Given the description of an element on the screen output the (x, y) to click on. 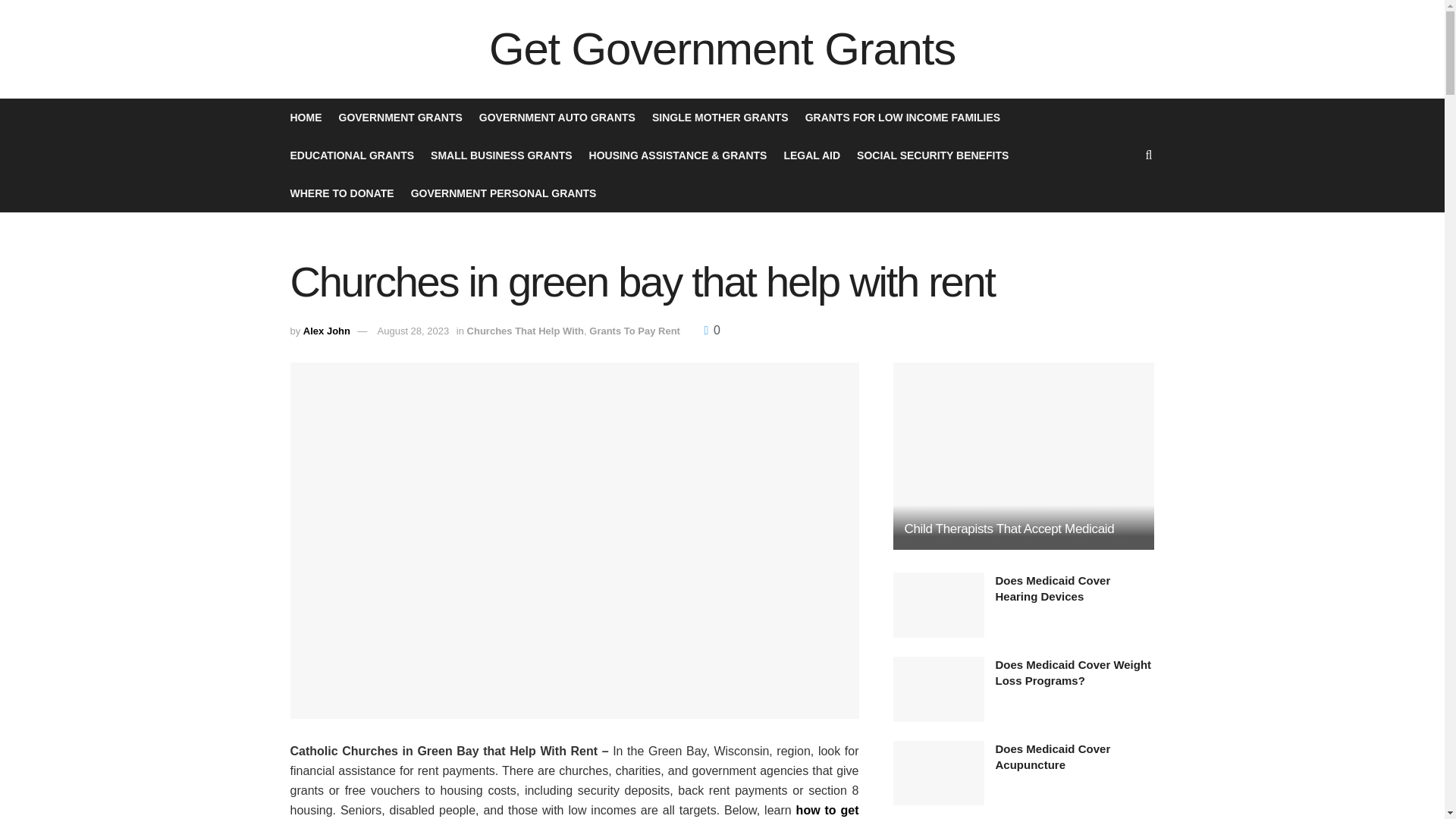
Grants To Pay Rent (634, 330)
Churches That Help With (525, 330)
GOVERNMENT PERSONAL GRANTS (503, 192)
GOVERNMENT GRANTS (399, 117)
EDUCATIONAL GRANTS (351, 155)
SMALL BUSINESS GRANTS (501, 155)
LEGAL AID (811, 155)
SOCIAL SECURITY BENEFITS (933, 155)
SINGLE MOTHER GRANTS (720, 117)
GOVERNMENT AUTO GRANTS (556, 117)
